Given the description of an element on the screen output the (x, y) to click on. 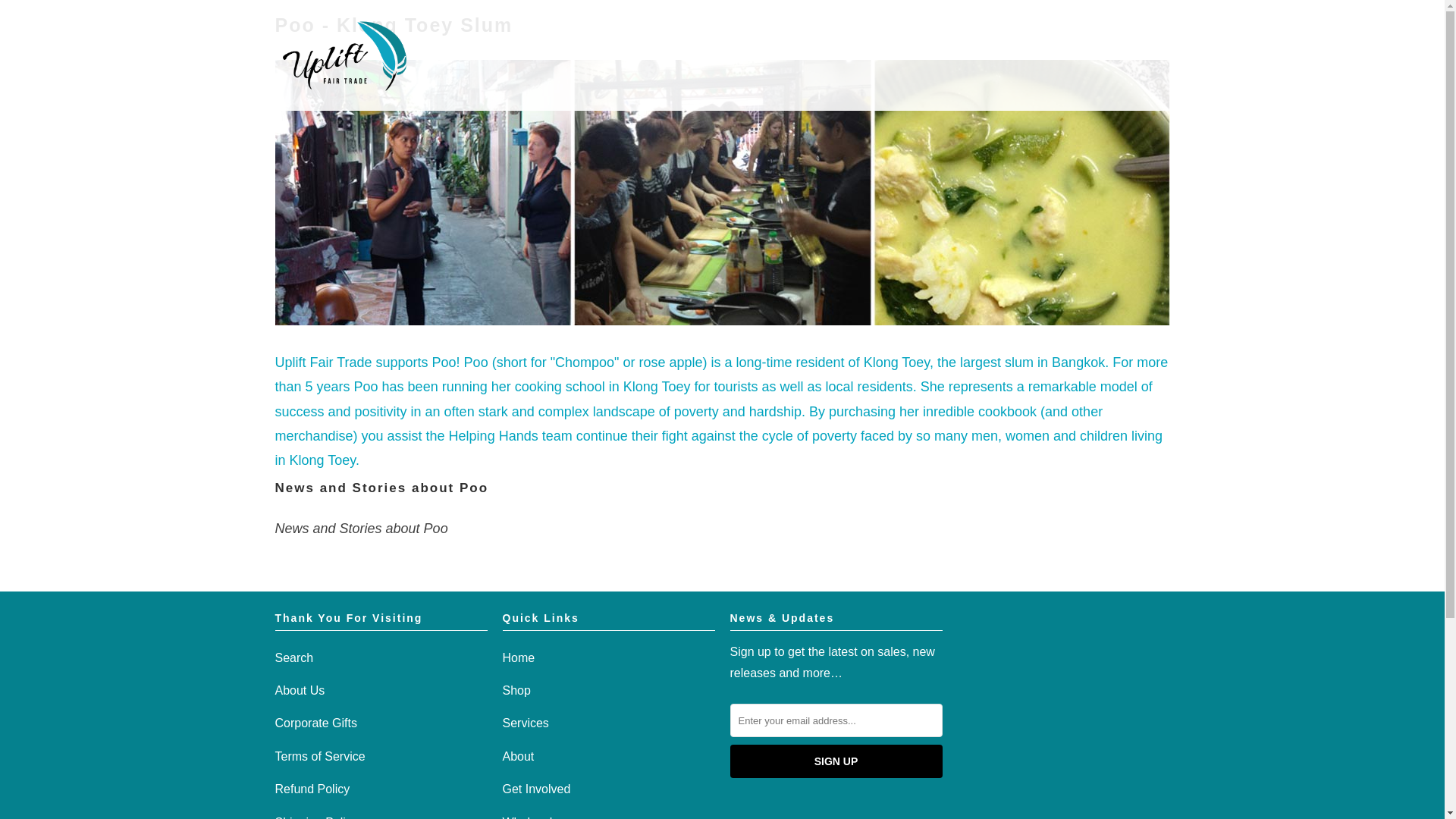
Uplift Fair Trade (344, 54)
Sign Up (835, 761)
